Given the description of an element on the screen output the (x, y) to click on. 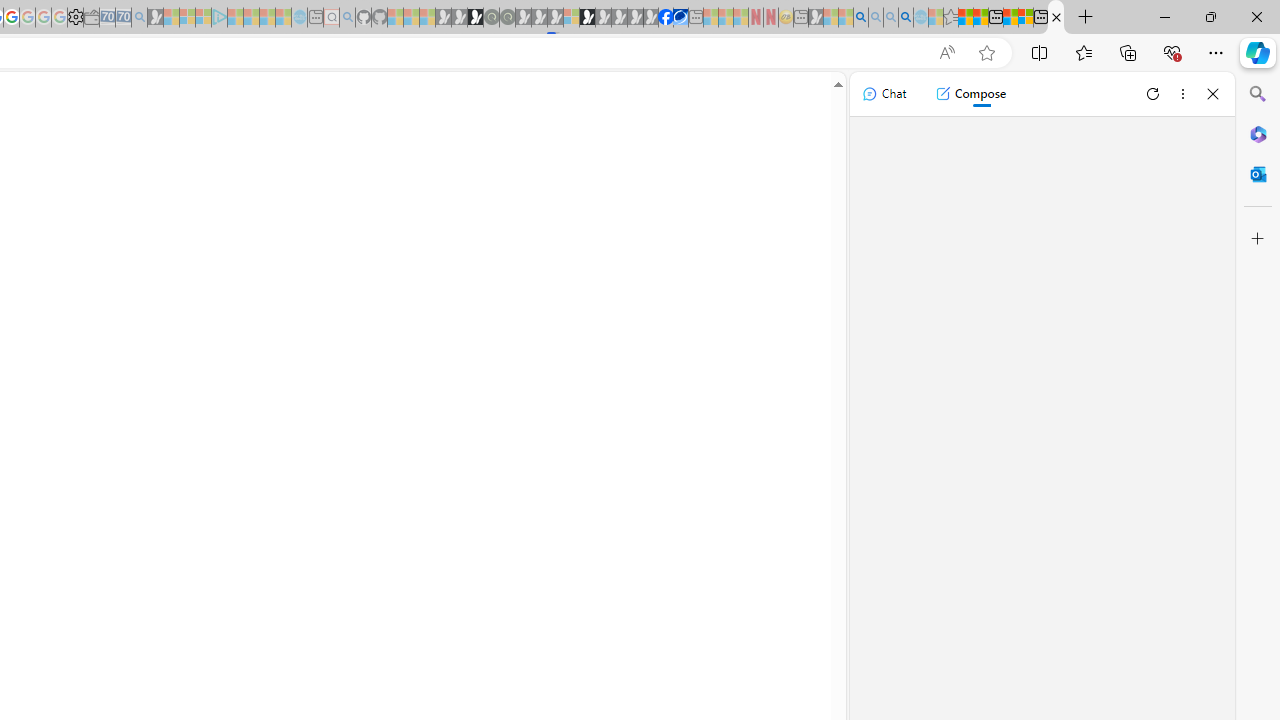
AQI & Health | AirNow.gov (681, 17)
Bing AI - Search (860, 17)
Close Customize pane (1258, 239)
